Given the description of an element on the screen output the (x, y) to click on. 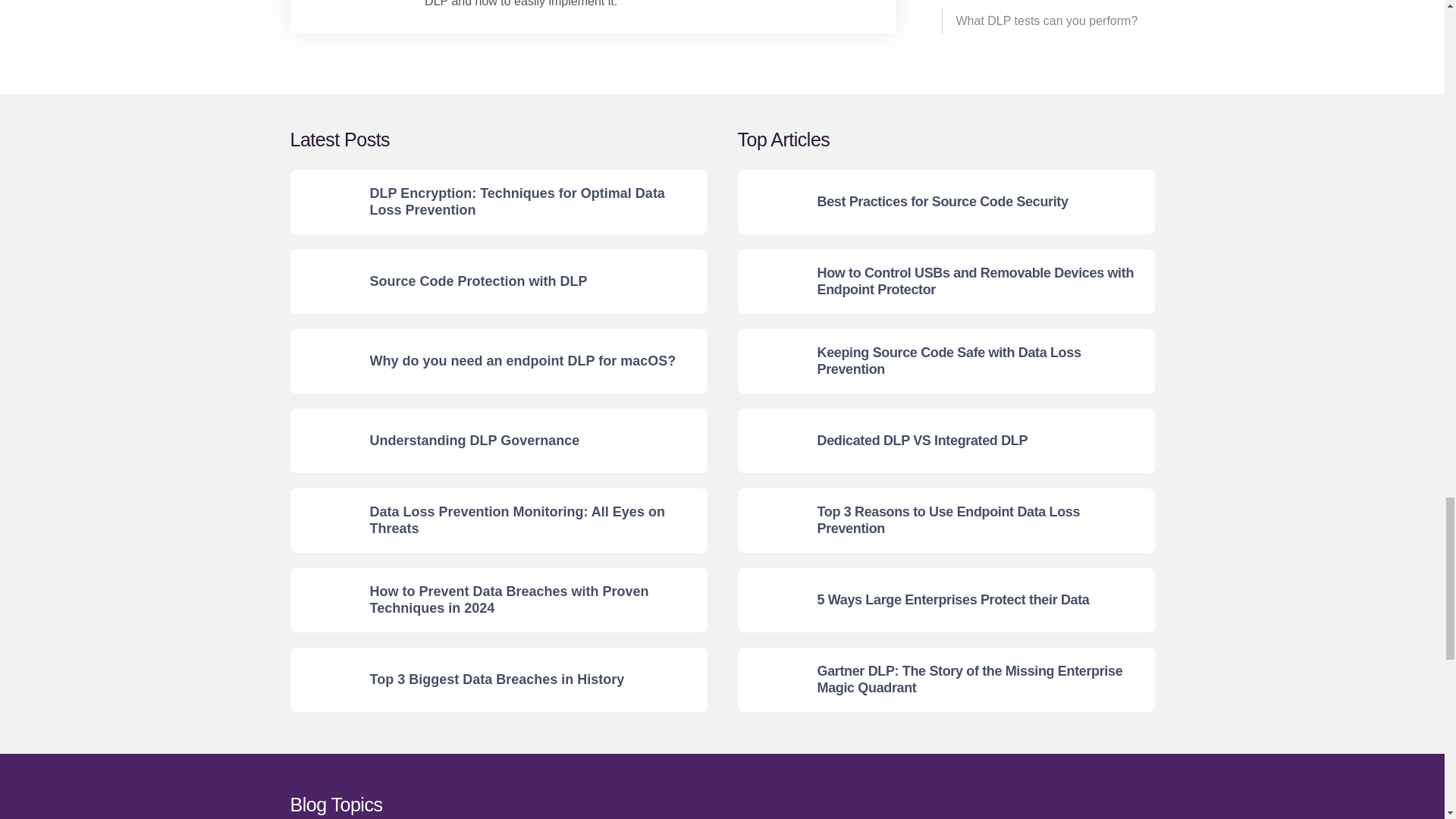
Top 3 Biggest Data Breaches in History (321, 679)
Understanding DLP Governance (321, 440)
Dedicated DLP VS Integrated DLP (769, 440)
5 Ways Large Enterprises Protect their Data (769, 600)
DLP Encryption: Techniques for Optimal Data Loss Prevention (321, 201)
How to Prevent Data Breaches with Proven Techniques in 2024 (321, 600)
Data Loss Prevention Monitoring: All Eyes on Threats (321, 520)
Top 3 Reasons to Use Endpoint Data Loss Prevention (769, 520)
